Given the description of an element on the screen output the (x, y) to click on. 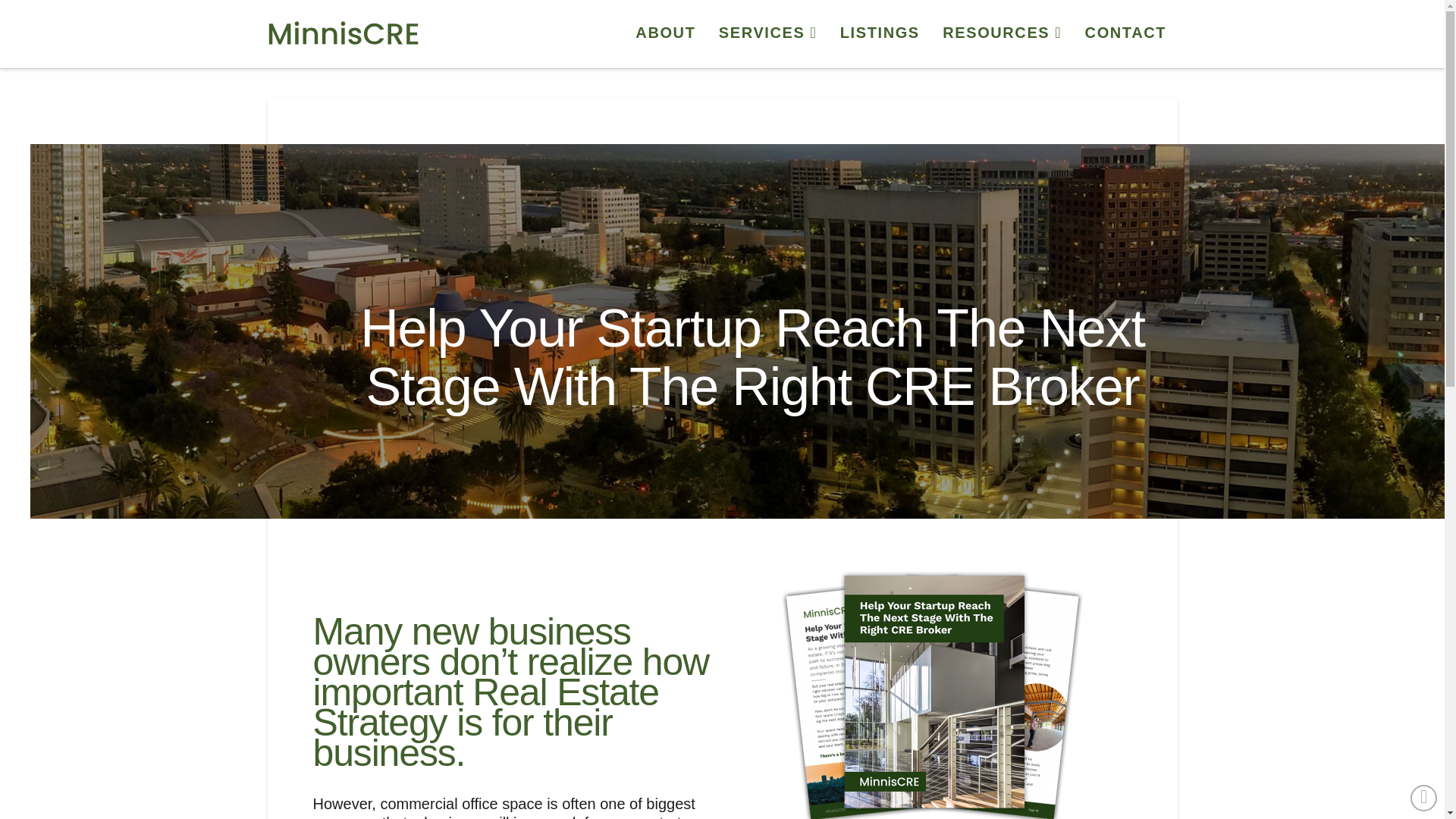
CONTACT (1125, 33)
LISTINGS (879, 33)
RESOURCES (1000, 33)
Back to Top (1423, 797)
SERVICES (767, 33)
ABOUT (664, 33)
